Given the description of an element on the screen output the (x, y) to click on. 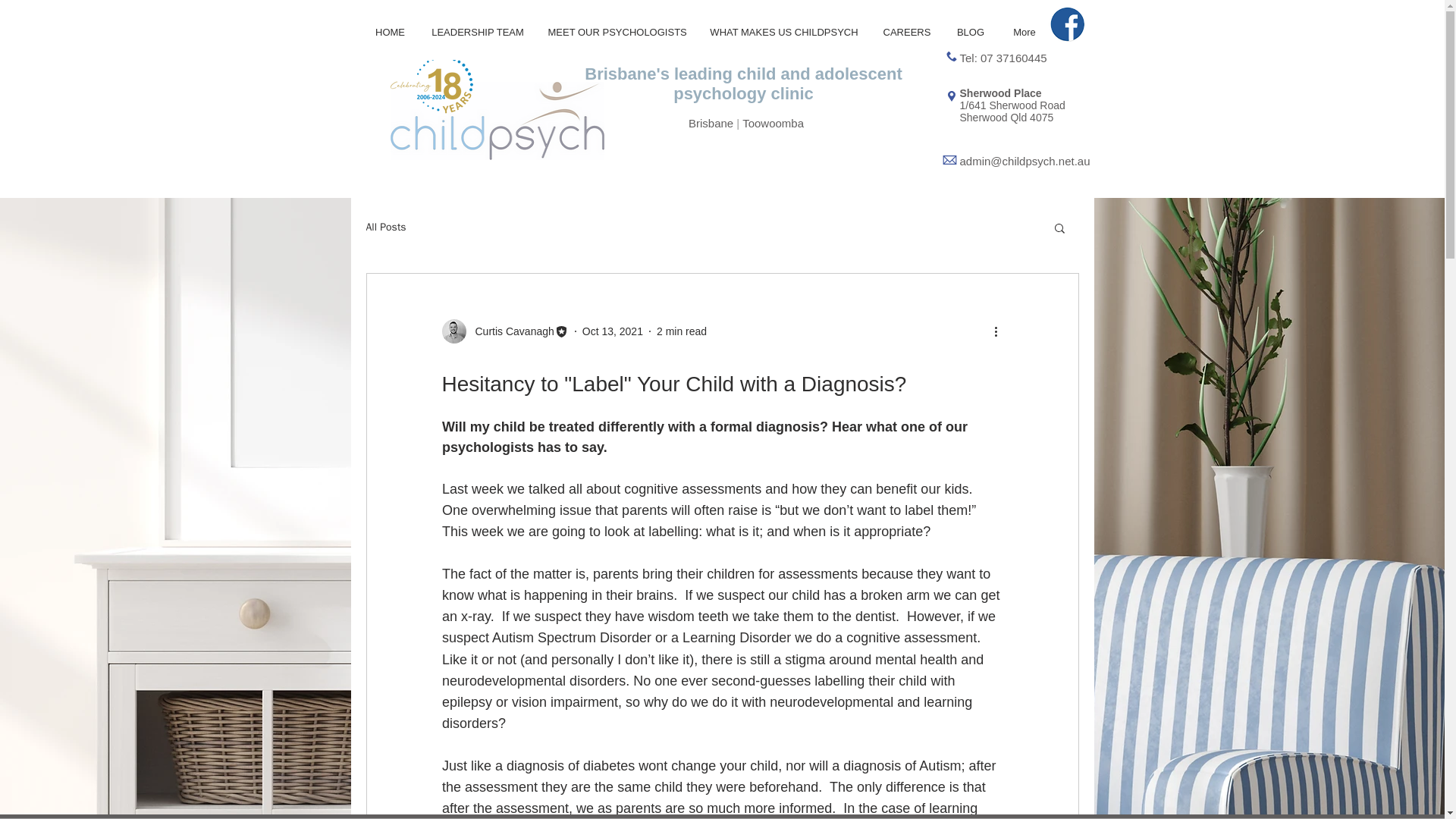
Tel: 07 37160445 (1002, 57)
CAREERS (906, 31)
16yrs.png (455, 88)
HOME (390, 31)
Sherwood Place (1000, 92)
All Posts (385, 227)
Toowoomba (772, 123)
WHAT MAKES US CHILDPSYCH (783, 31)
LEADERSHIP TEAM (477, 31)
MEET OUR PSYCHOLOGISTS (617, 31)
2 min read (681, 330)
Brisbane (712, 123)
Curtis Cavanagh (509, 330)
BLOG (970, 31)
Oct 13, 2021 (612, 330)
